Given the description of an element on the screen output the (x, y) to click on. 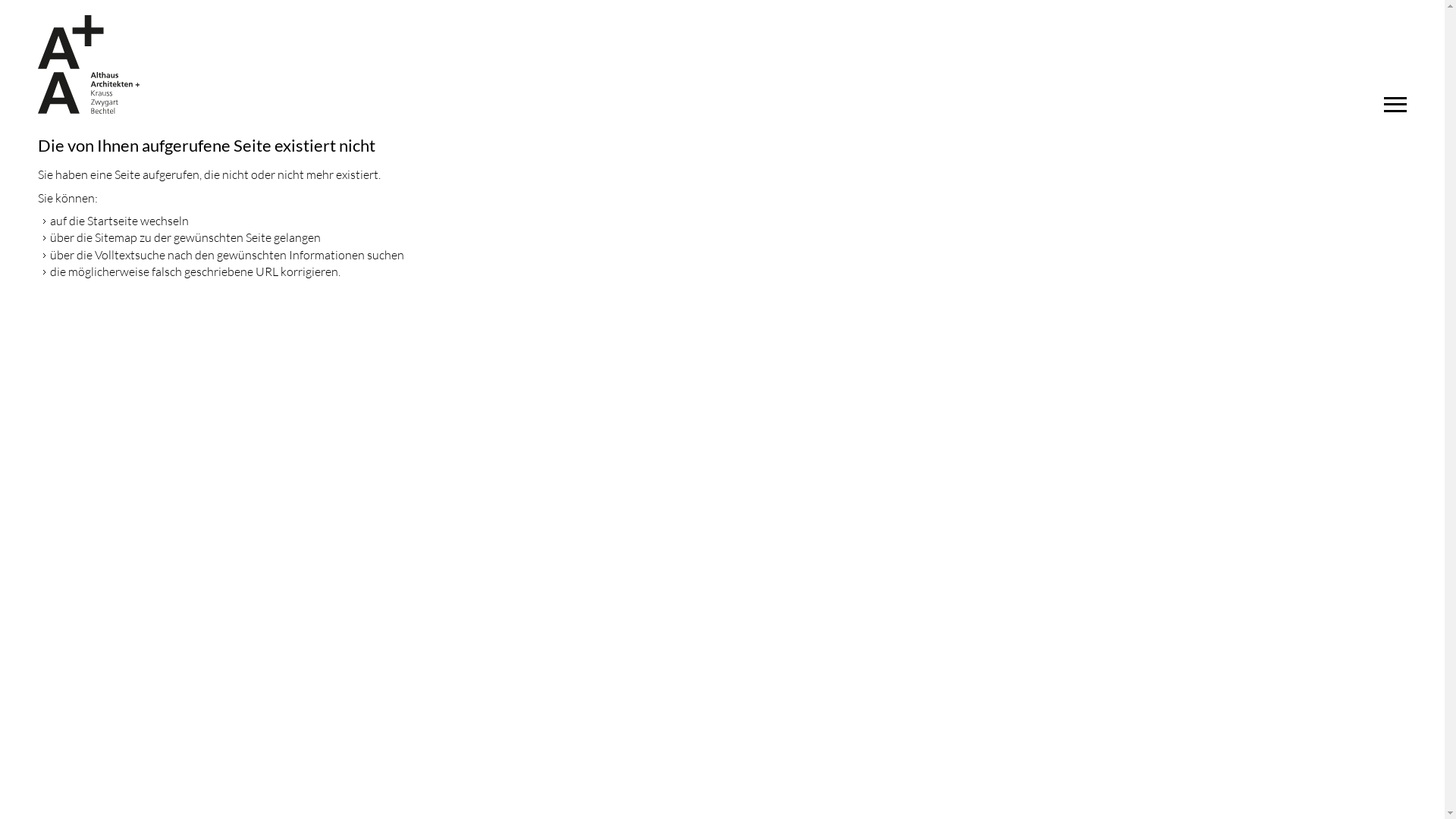
Volltextsuche Element type: text (129, 254)
Zur Startseite Element type: hover (88, 64)
Startseite Element type: text (112, 220)
